Given the description of an element on the screen output the (x, y) to click on. 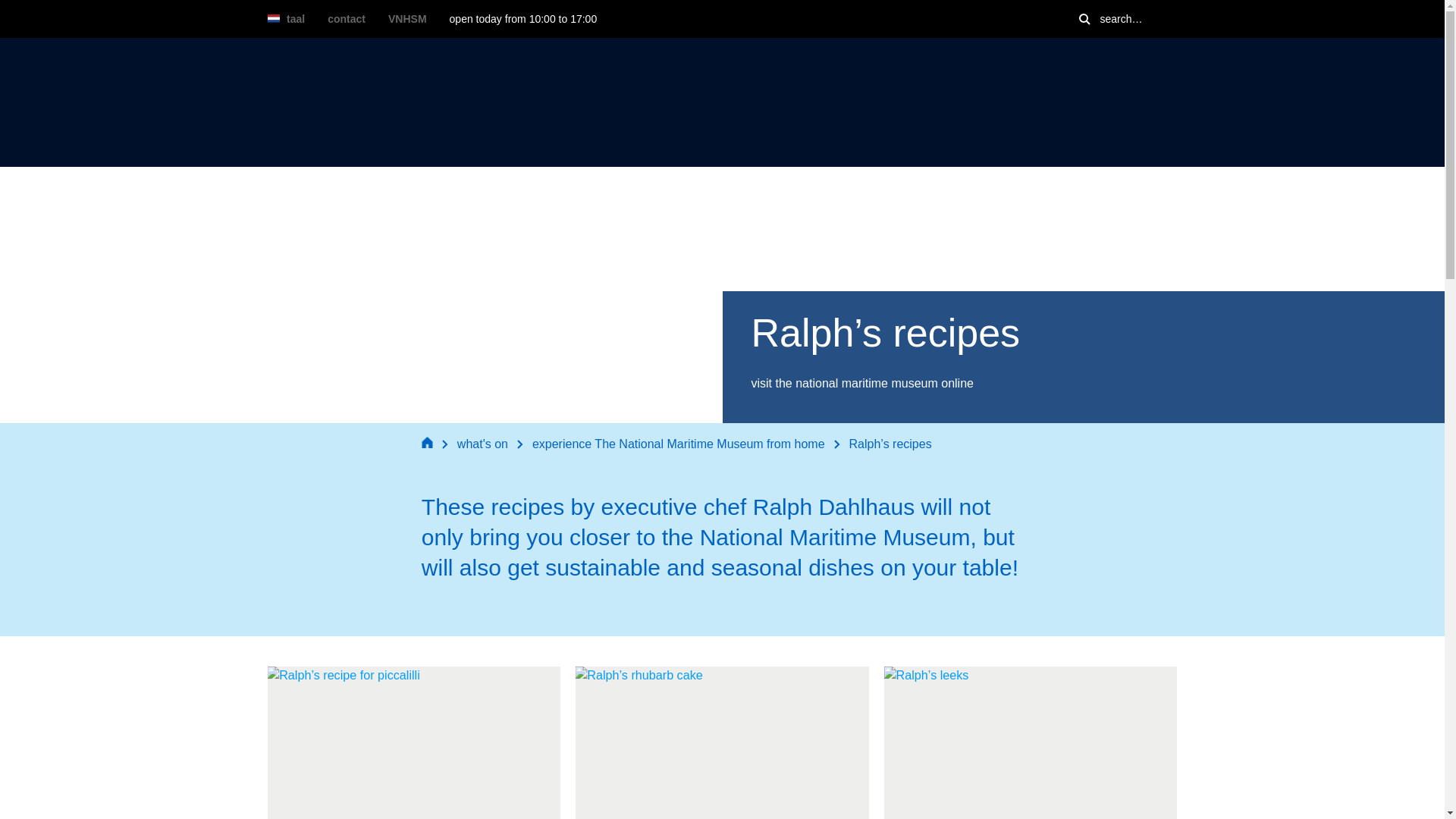
taal (285, 18)
VNHSM (407, 19)
contact (346, 19)
Language (285, 18)
